Given the description of an element on the screen output the (x, y) to click on. 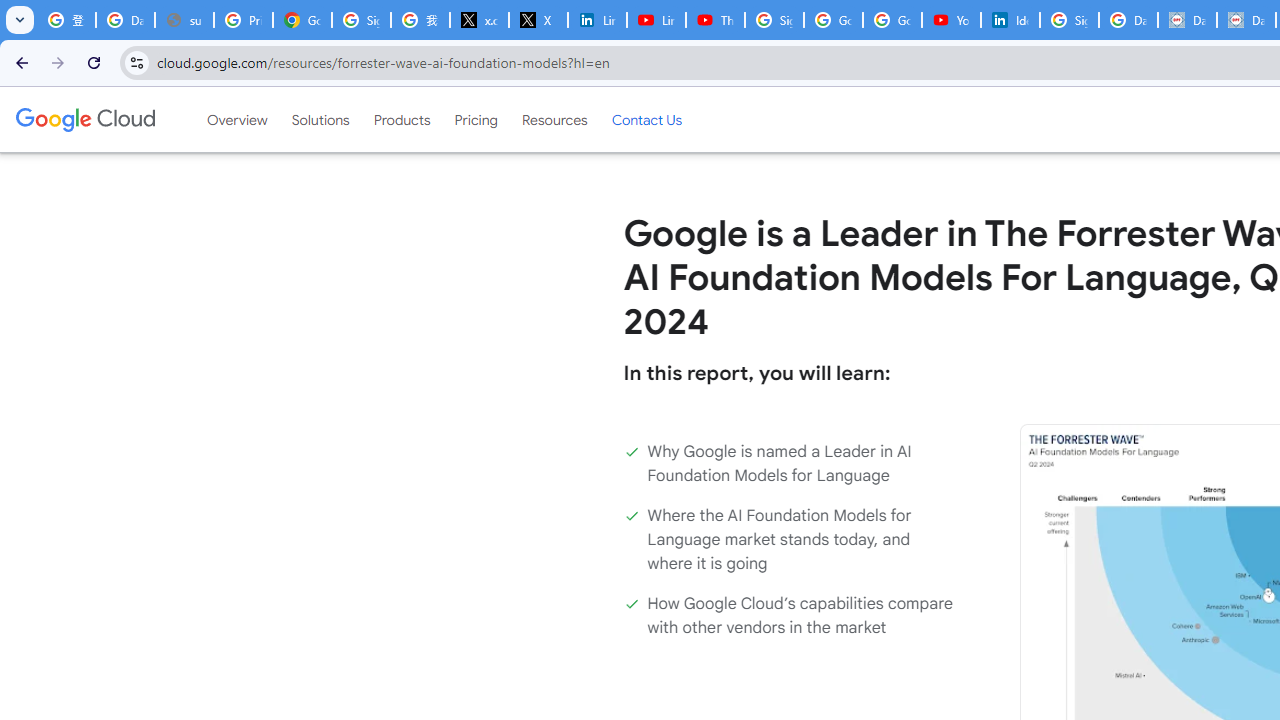
LinkedIn - YouTube (656, 20)
support.google.com - Network error (183, 20)
Sign in - Google Accounts (360, 20)
Data Privacy Framework (1187, 20)
Google Cloud (84, 119)
